Given the description of an element on the screen output the (x, y) to click on. 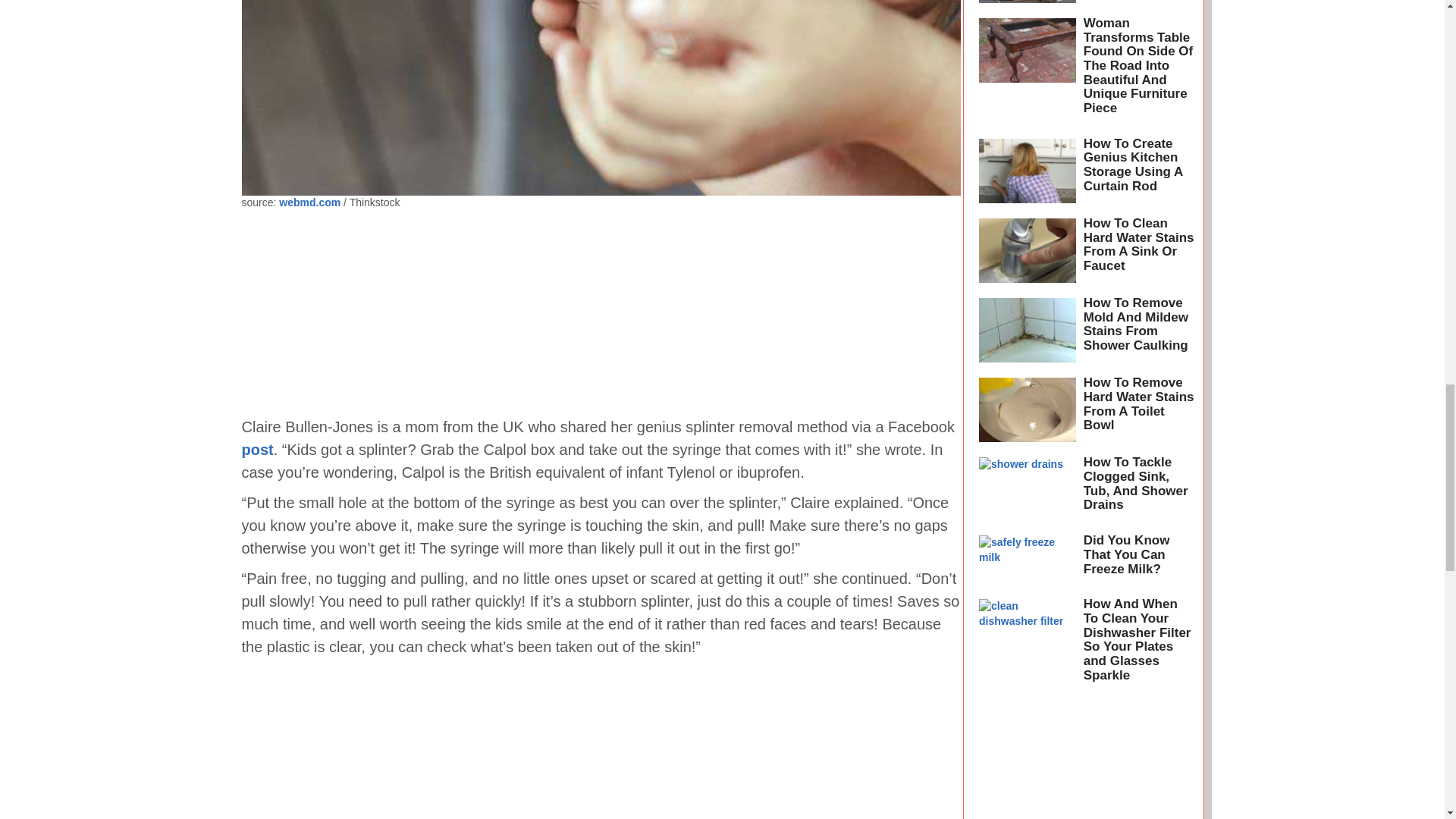
Read more (1027, 409)
Read more (1027, 559)
Read more (1027, 5)
How To Clean Hard Water Stains From A Sink Or Faucet (1138, 244)
Read more (1027, 644)
Did You Know That You Can Freeze Milk? (1126, 554)
How To Remove Hard Water Stains From A Toilet Bowl (1138, 403)
How To Tackle Clogged Sink, Tub, And Shower Drains (1135, 483)
How To Create Genius Kitchen Storage Using A Curtain Rod (1132, 164)
